Given the description of an element on the screen output the (x, y) to click on. 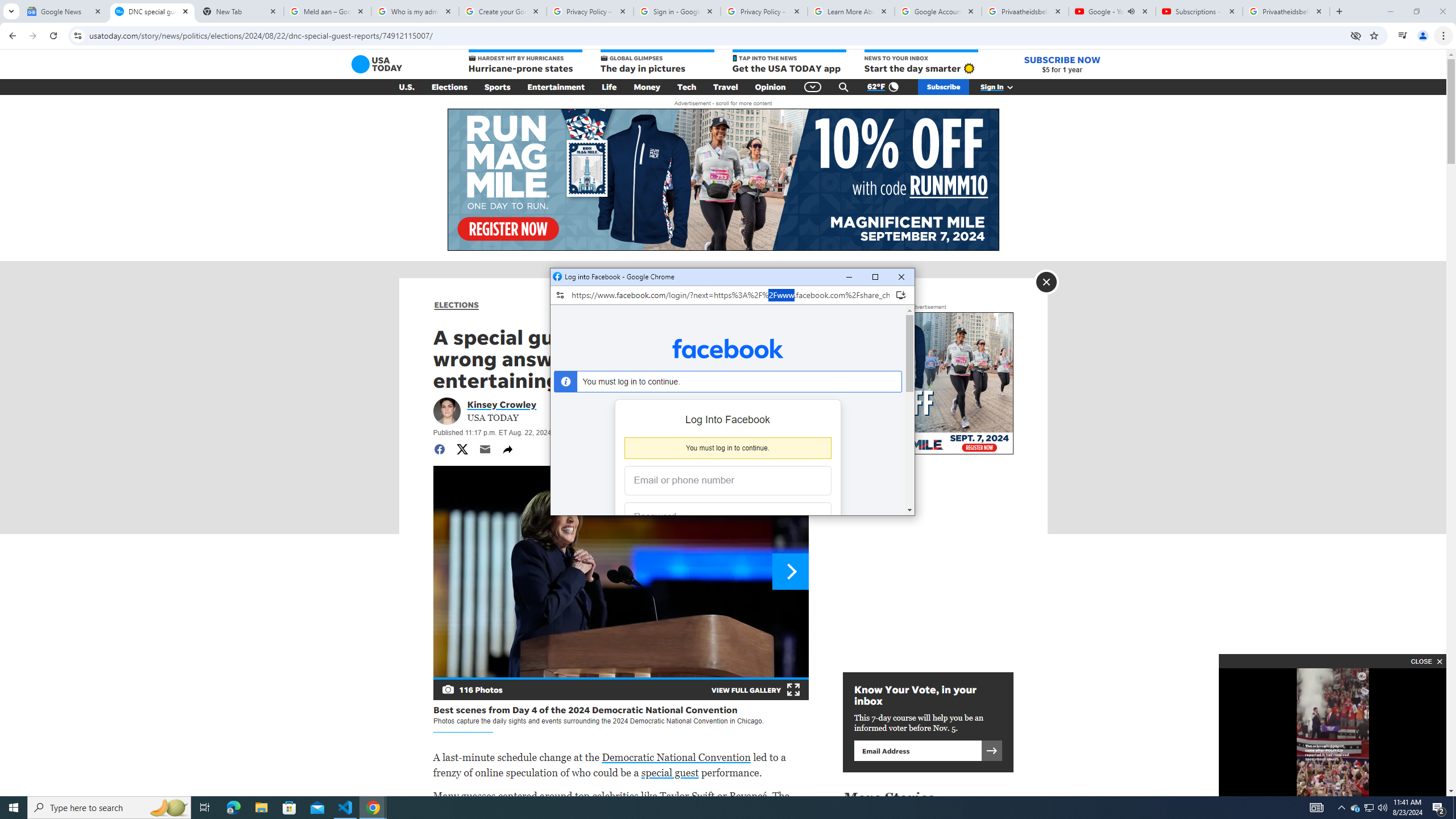
Subscribe (1368, 807)
Email or phone number (943, 87)
Share natively (727, 481)
Elections (506, 449)
Email address (449, 87)
Google Account (917, 750)
Tech (938, 11)
Maximize (686, 87)
Portrait of Kinsey Crowley (874, 276)
Running applications (446, 411)
